Given the description of an element on the screen output the (x, y) to click on. 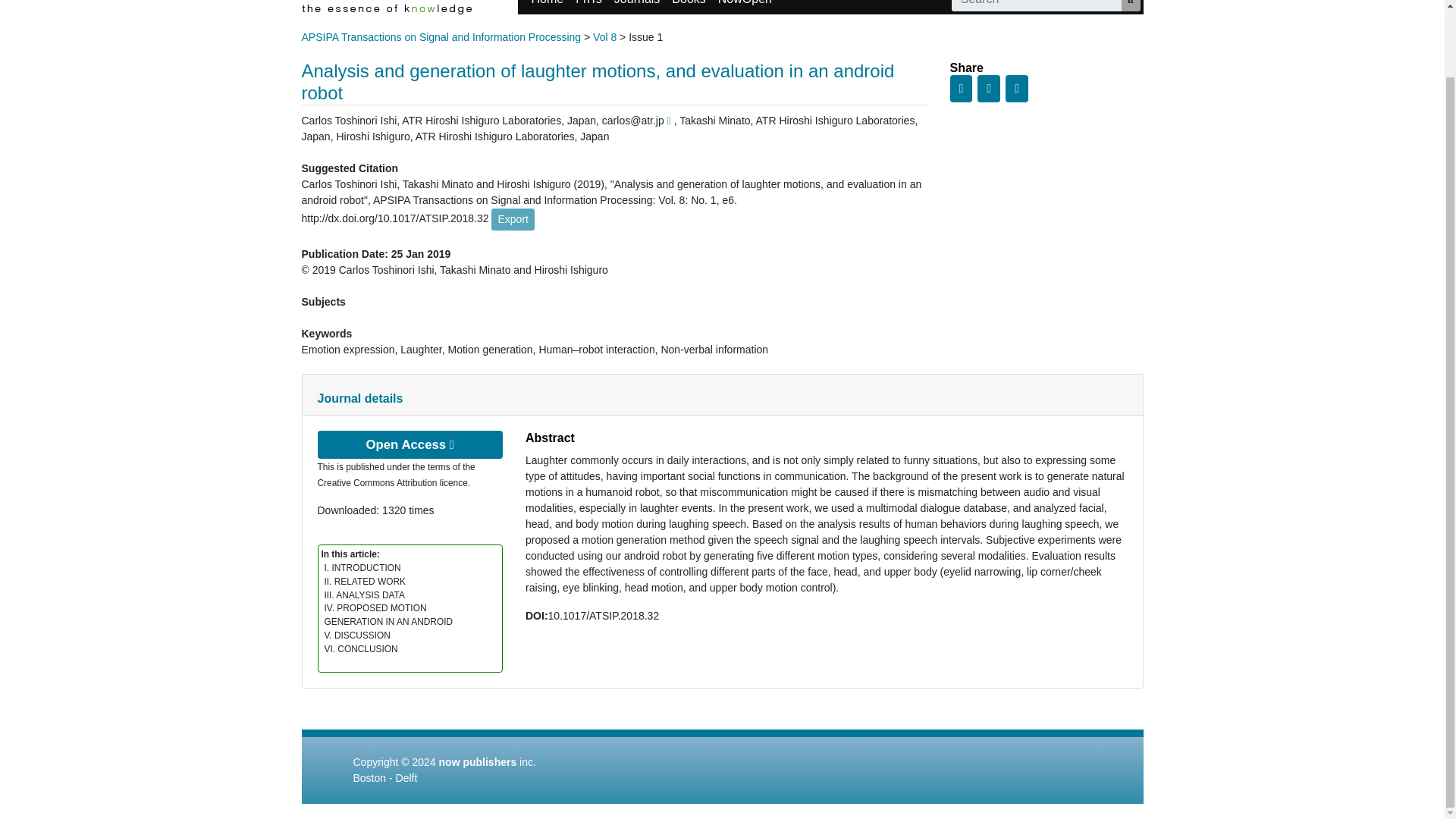
Export (513, 219)
Journal details (360, 398)
Journals (636, 7)
NowOpen (744, 7)
Books (688, 7)
APSIPA Transactions on Signal and Information Processing (440, 37)
FnTs (588, 7)
Vol 8 (603, 37)
Open Access (409, 444)
Home (546, 7)
